Given the description of an element on the screen output the (x, y) to click on. 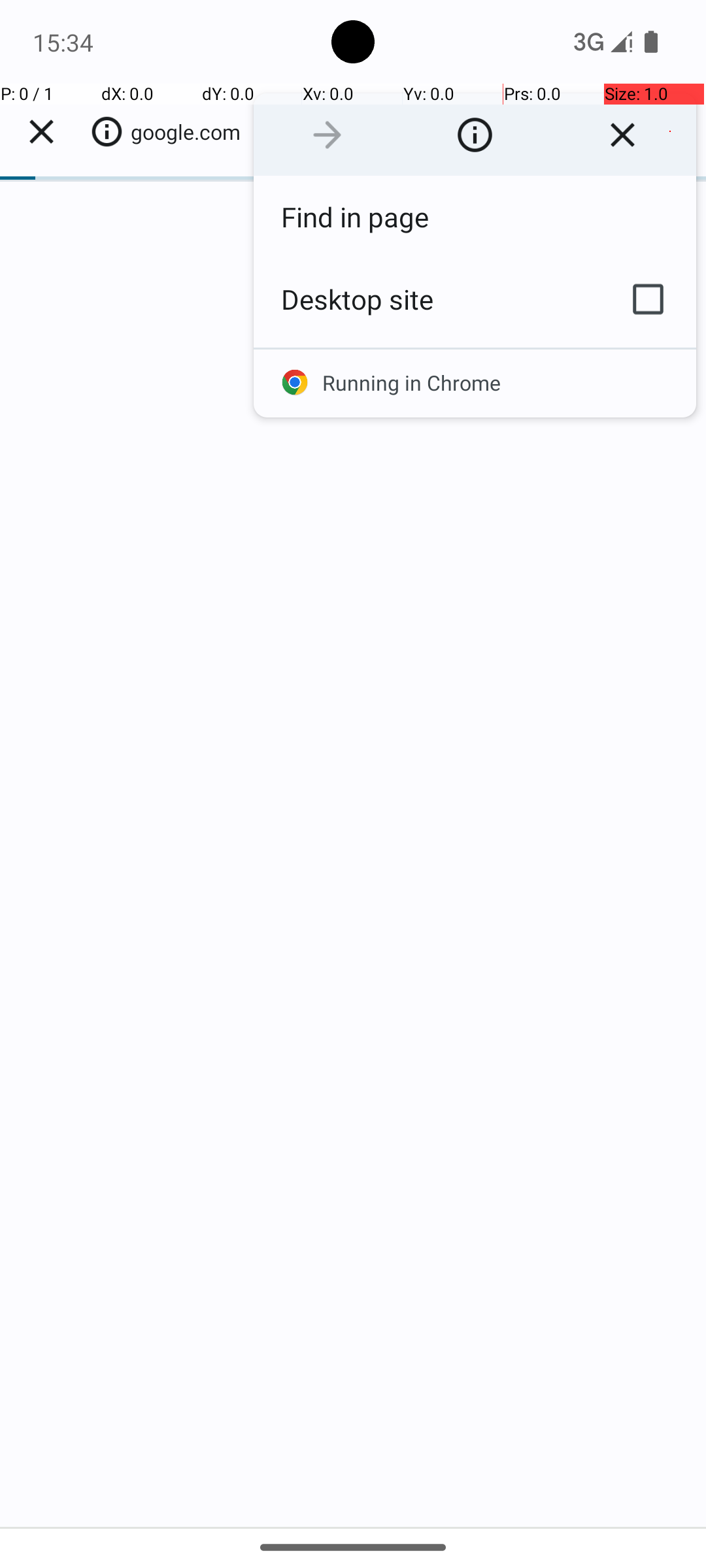
Running in Chrome Element type: android.widget.TextView (474, 382)
Go forward Element type: android.widget.ImageButton (326, 134)
View site information Element type: android.widget.ImageButton (474, 134)
Stop refreshing Element type: android.widget.ImageButton (622, 134)
Find in page Element type: android.widget.TextView (474, 216)
Desktop site Element type: android.widget.TextView (426, 299)
